Given the description of an element on the screen output the (x, y) to click on. 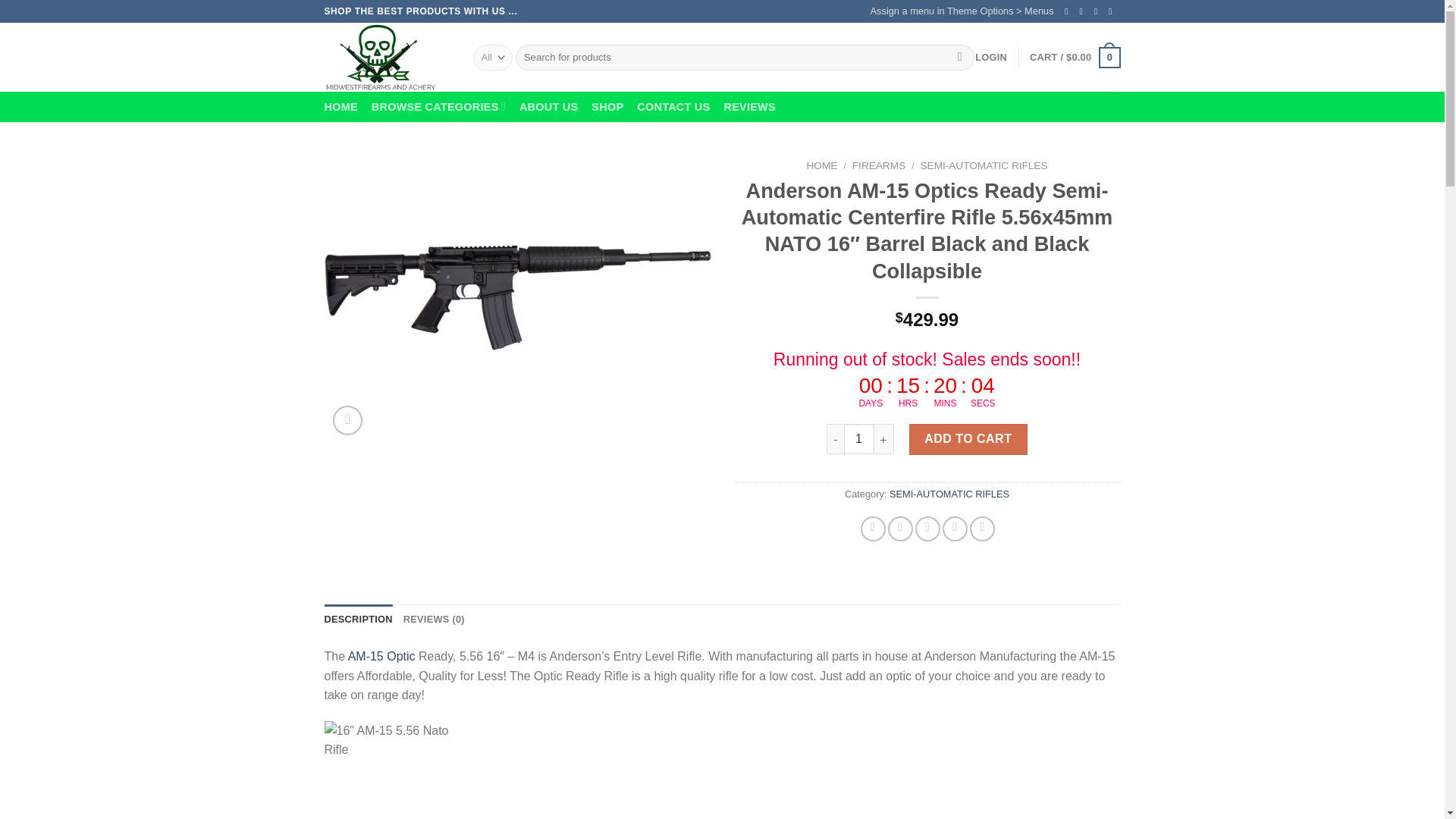
Zoom (347, 419)
anderson am 15 (517, 297)
LOGIN (991, 57)
REVIEWS (748, 106)
SHOP (607, 106)
ABOUT US (548, 106)
Search (959, 57)
1 (859, 439)
HOME (341, 106)
BROWSE CATEGORIES (438, 106)
